Given the description of an element on the screen output the (x, y) to click on. 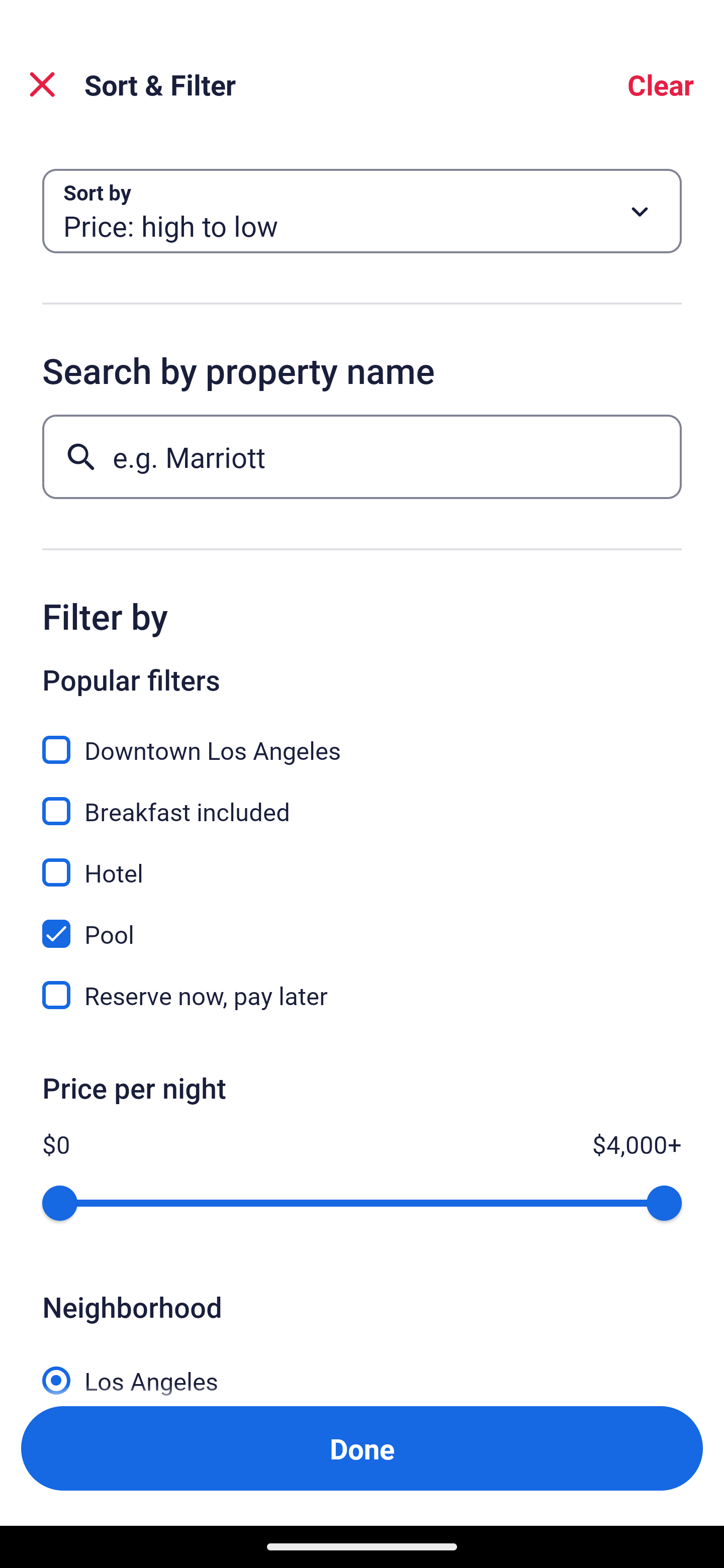
Close Sort and Filter (42, 84)
Clear (660, 84)
Sort by Button Price: high to low (361, 211)
e.g. Marriott Button (361, 455)
Downtown Los Angeles, Downtown Los Angeles (361, 738)
Breakfast included, Breakfast included (361, 800)
Hotel, Hotel (361, 861)
Pool, Pool (361, 922)
Reserve now, pay later, Reserve now, pay later (361, 995)
Apply and close Sort and Filter Done (361, 1448)
